Given the description of an element on the screen output the (x, y) to click on. 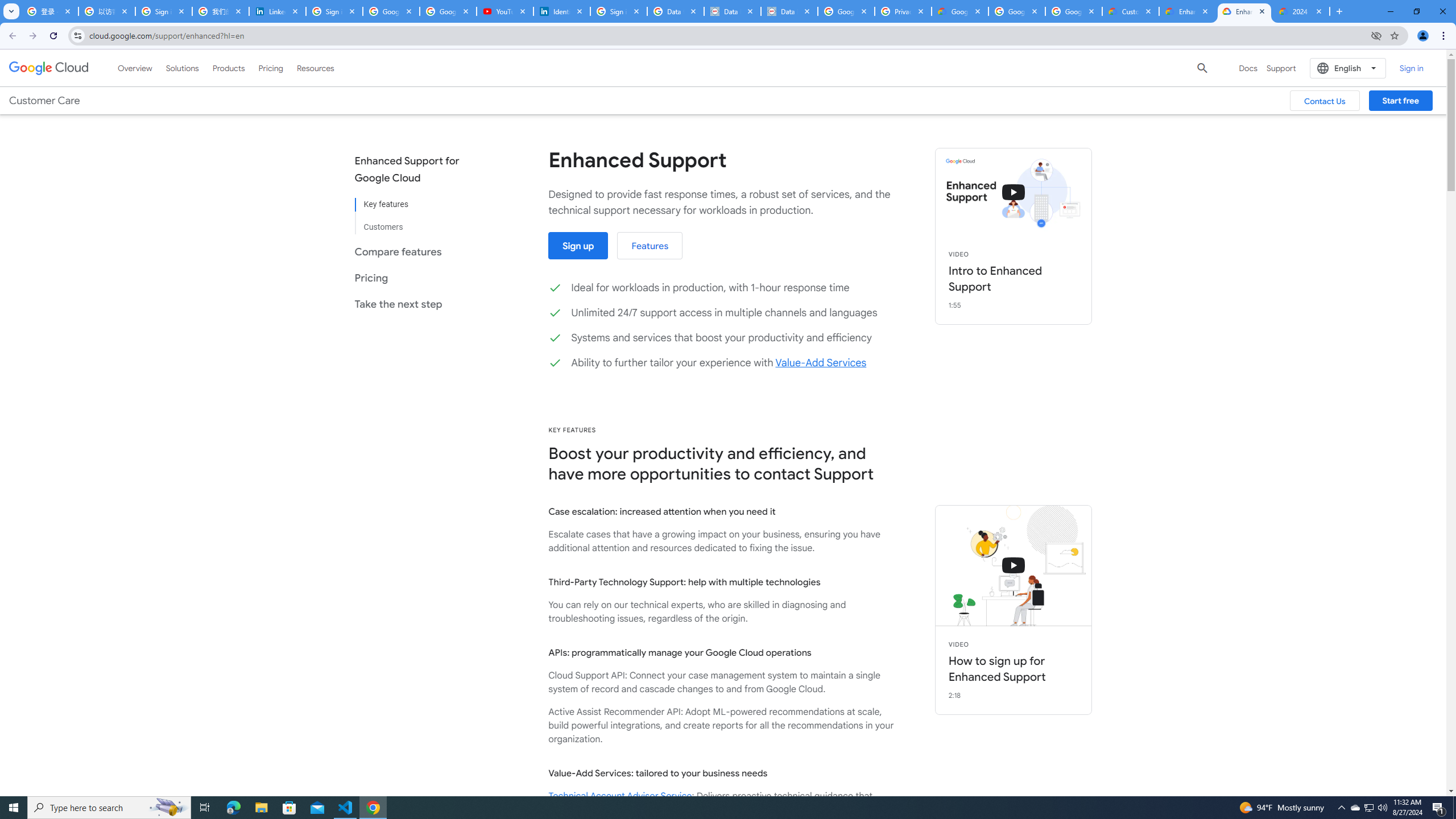
Data Privacy Framework (731, 11)
Pricing (270, 67)
Start free (1400, 100)
Support (1280, 67)
Google Workspace - Specific Terms (1015, 11)
